Given the description of an element on the screen output the (x, y) to click on. 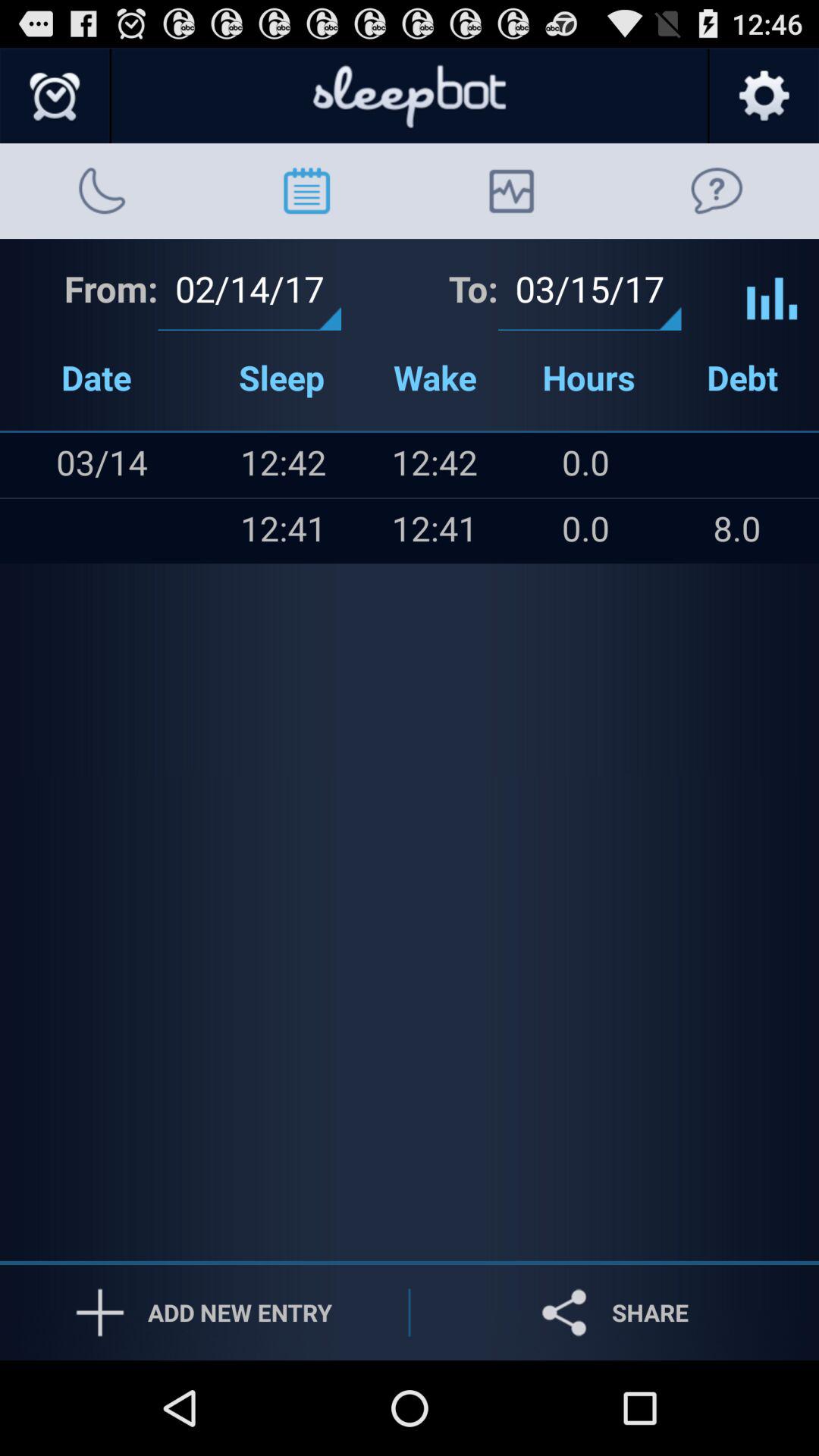
turn off icon (31, 465)
